Given the description of an element on the screen output the (x, y) to click on. 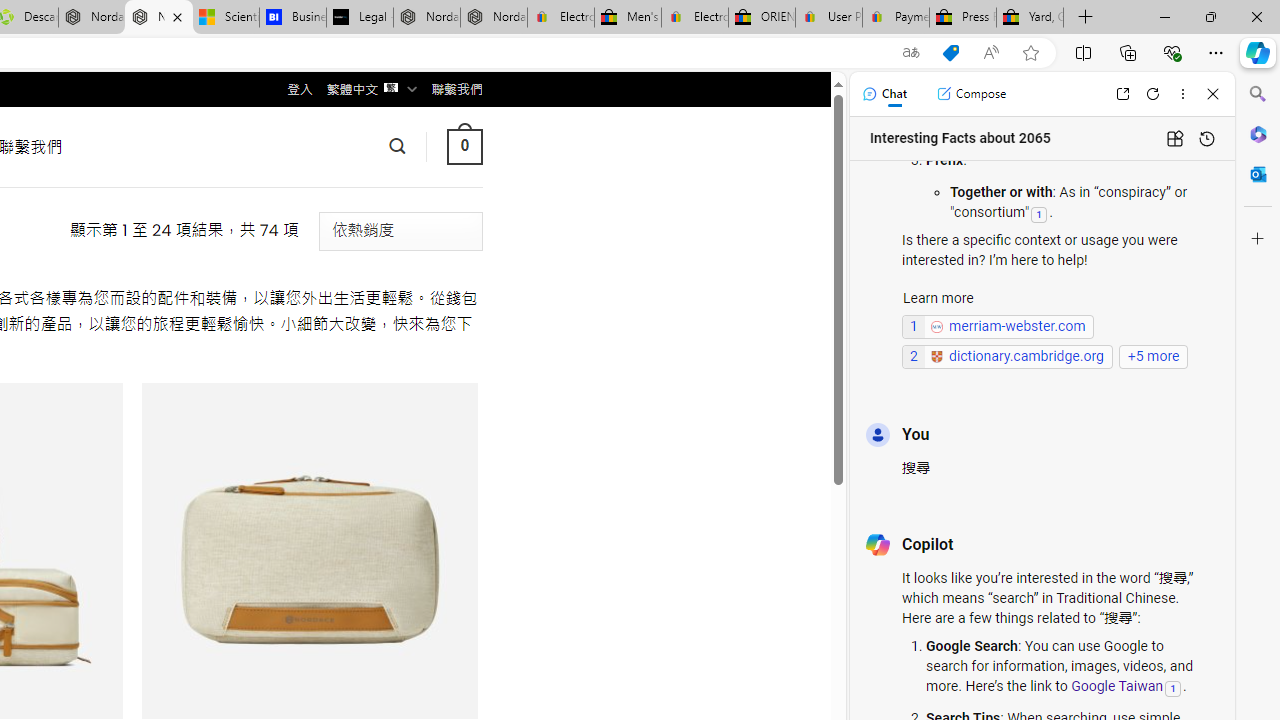
  0   (464, 146)
Minimize Search pane (1258, 94)
